Given the description of an element on the screen output the (x, y) to click on. 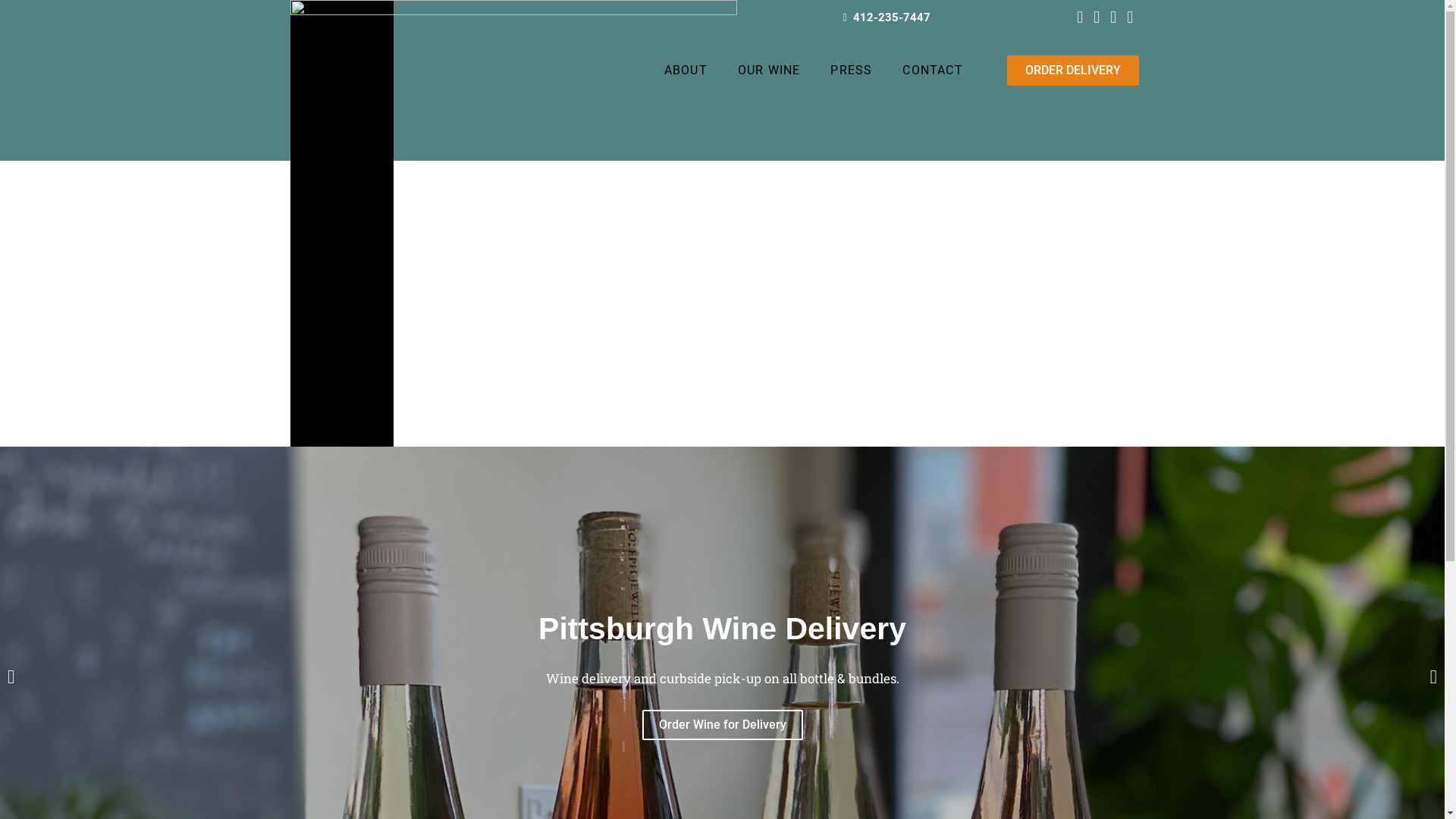
  412-235-7447 Element type: text (888, 17)
OUR WINE Element type: text (768, 70)
PRESS Element type: text (851, 70)
ORDER DELIVERY Element type: text (1073, 70)
CONTACT Element type: text (932, 70)
ABOUT Element type: text (685, 70)
